Given the description of an element on the screen output the (x, y) to click on. 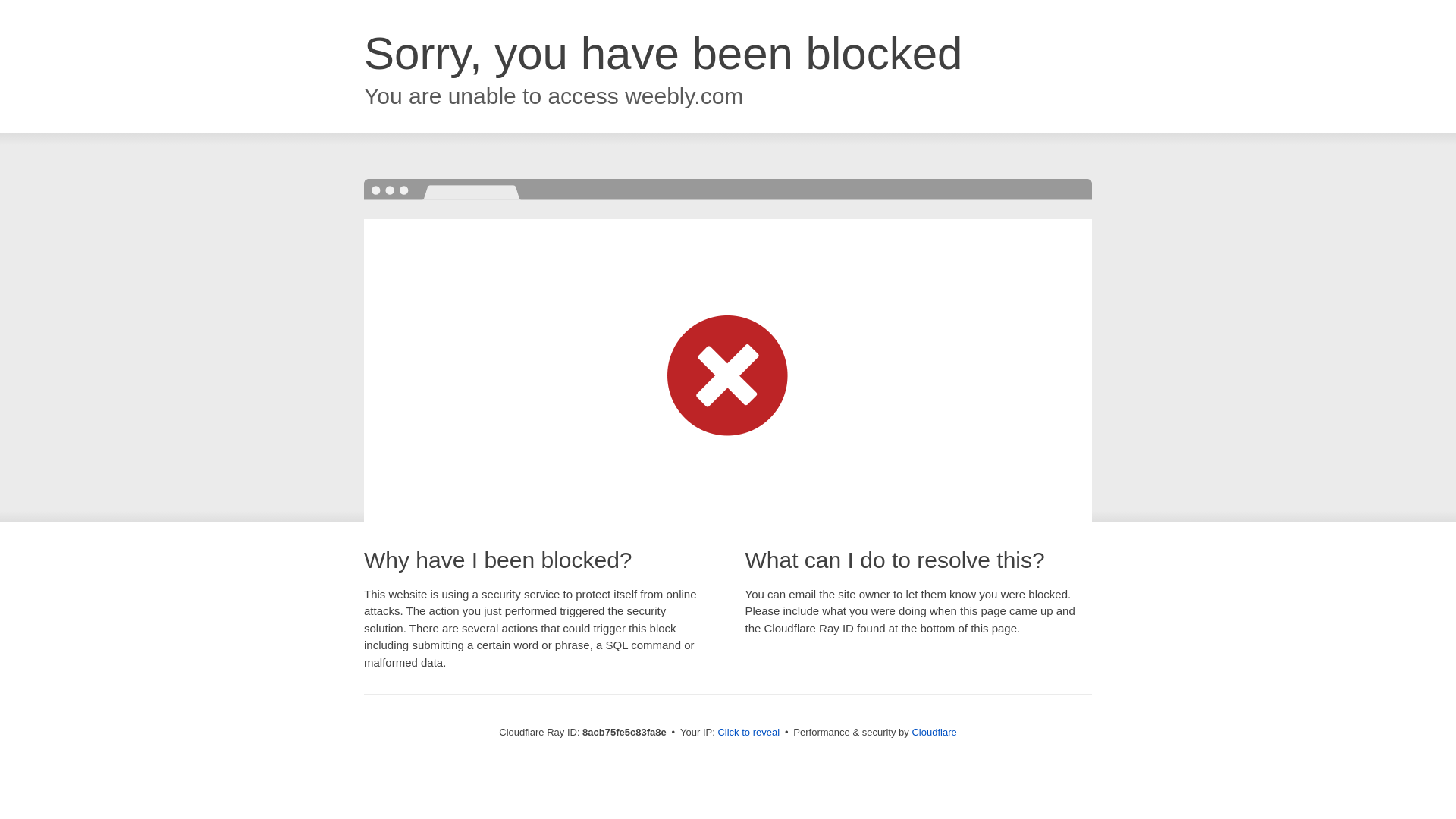
Click to reveal (747, 732)
Cloudflare (933, 731)
